Given the description of an element on the screen output the (x, y) to click on. 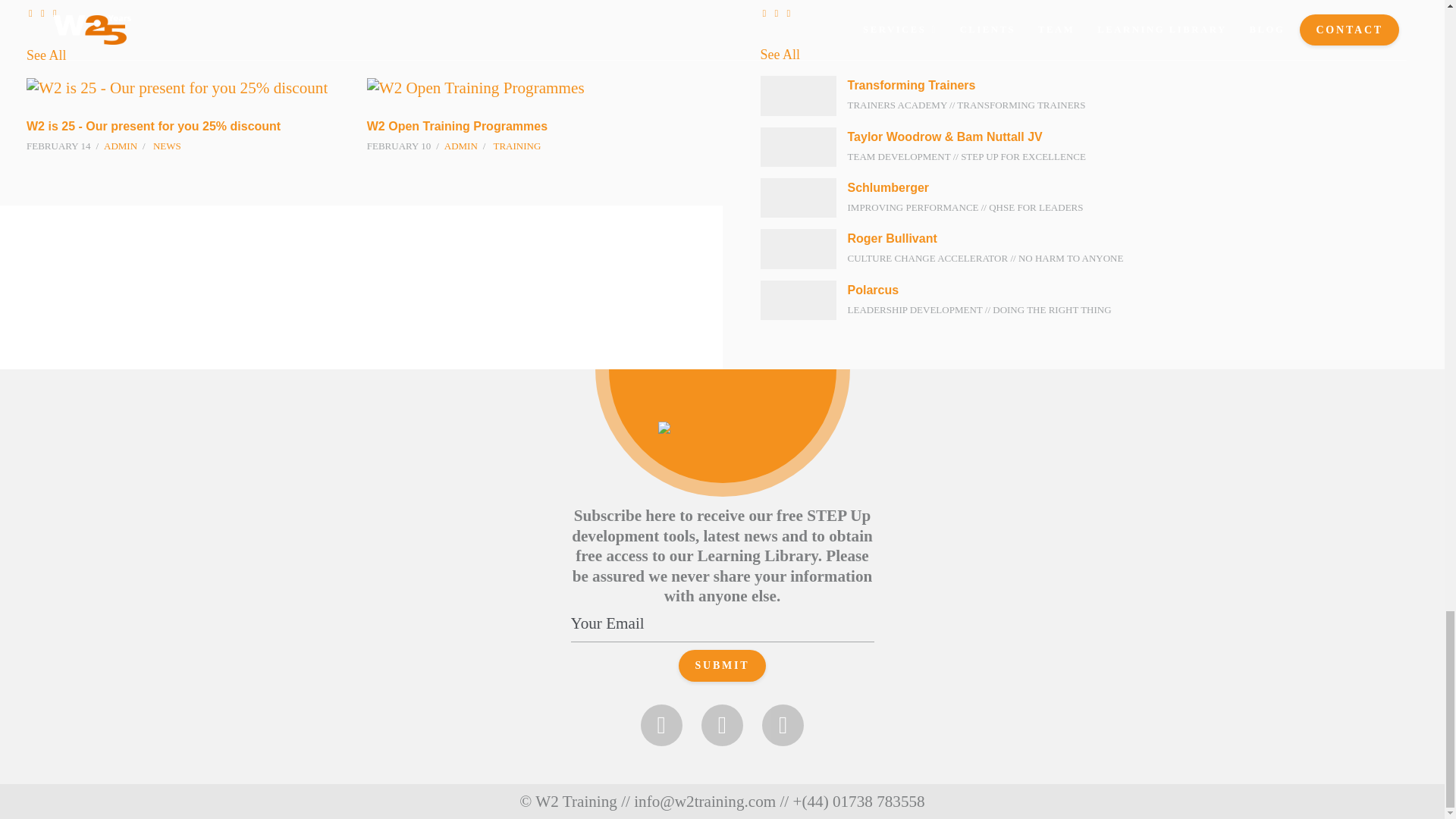
ADMIN (119, 145)
TRAINING (516, 145)
W2 Open Training Programmes (456, 125)
See All (45, 55)
NEWS (166, 145)
SUBMIT (721, 665)
See All (1089, 54)
ADMIN (460, 145)
